Given the description of an element on the screen output the (x, y) to click on. 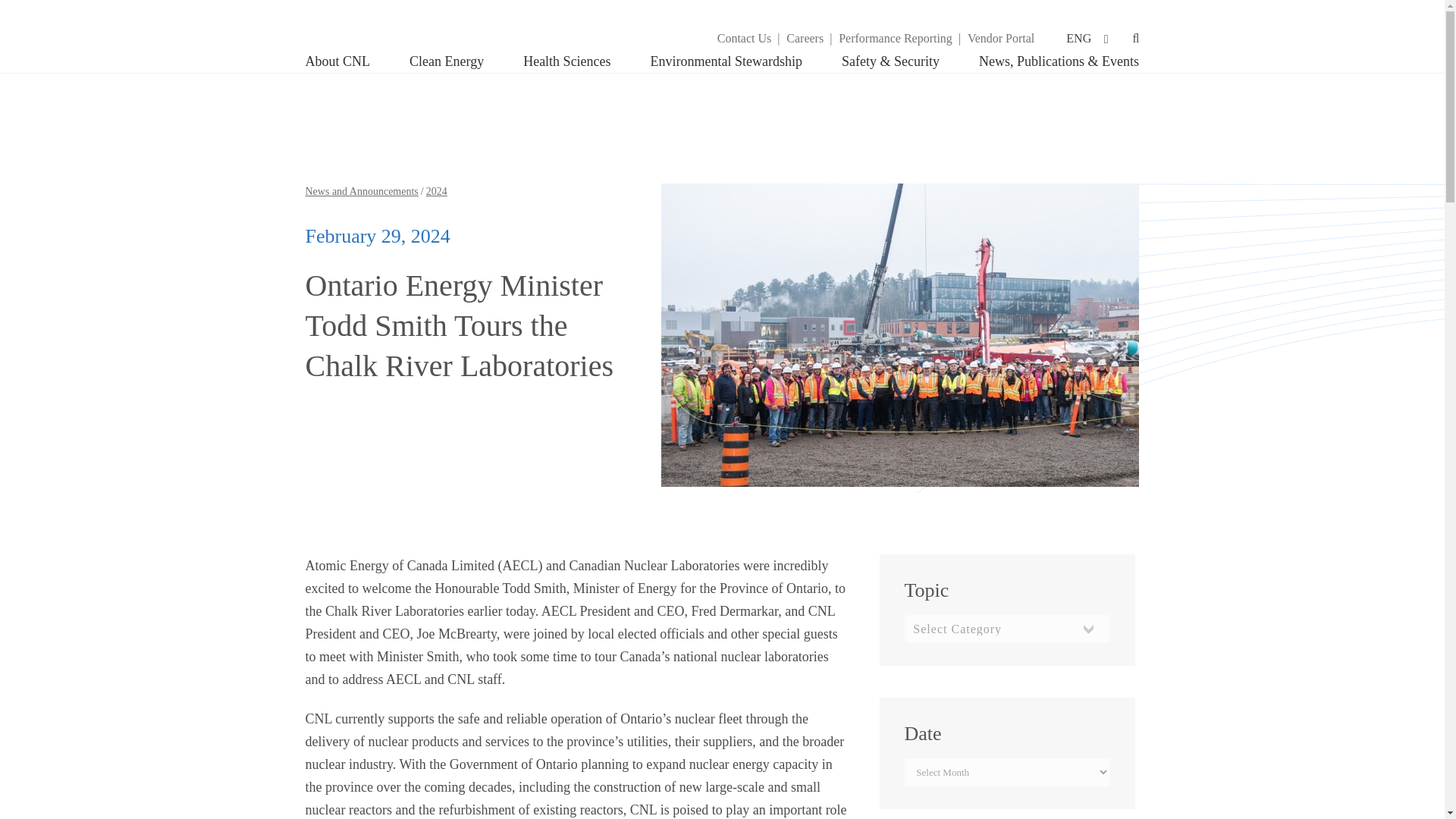
Contact Us (744, 37)
Performance Reporting (895, 37)
ENG (1086, 37)
Careers (804, 37)
Clean Energy (446, 61)
Vendor Portal (1000, 37)
About CNL (347, 61)
